Given the description of an element on the screen output the (x, y) to click on. 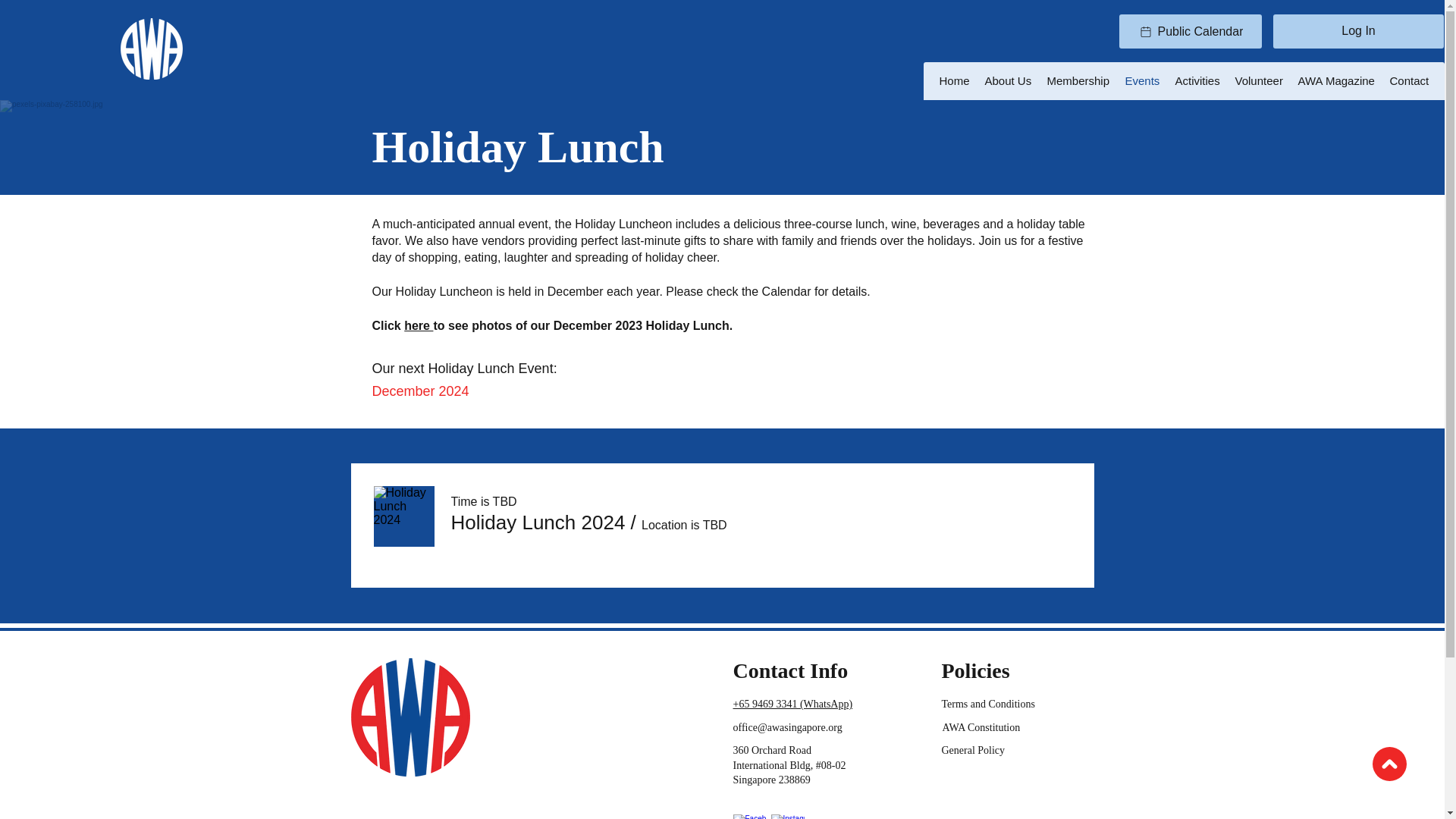
Events (1142, 80)
here (418, 325)
Activities (1197, 80)
Home (953, 80)
Contact (1408, 80)
Log In (1358, 31)
Public Calendar (1190, 31)
Membership (1077, 80)
AWA Magazine (1335, 80)
About Us (1007, 80)
